Given the description of an element on the screen output the (x, y) to click on. 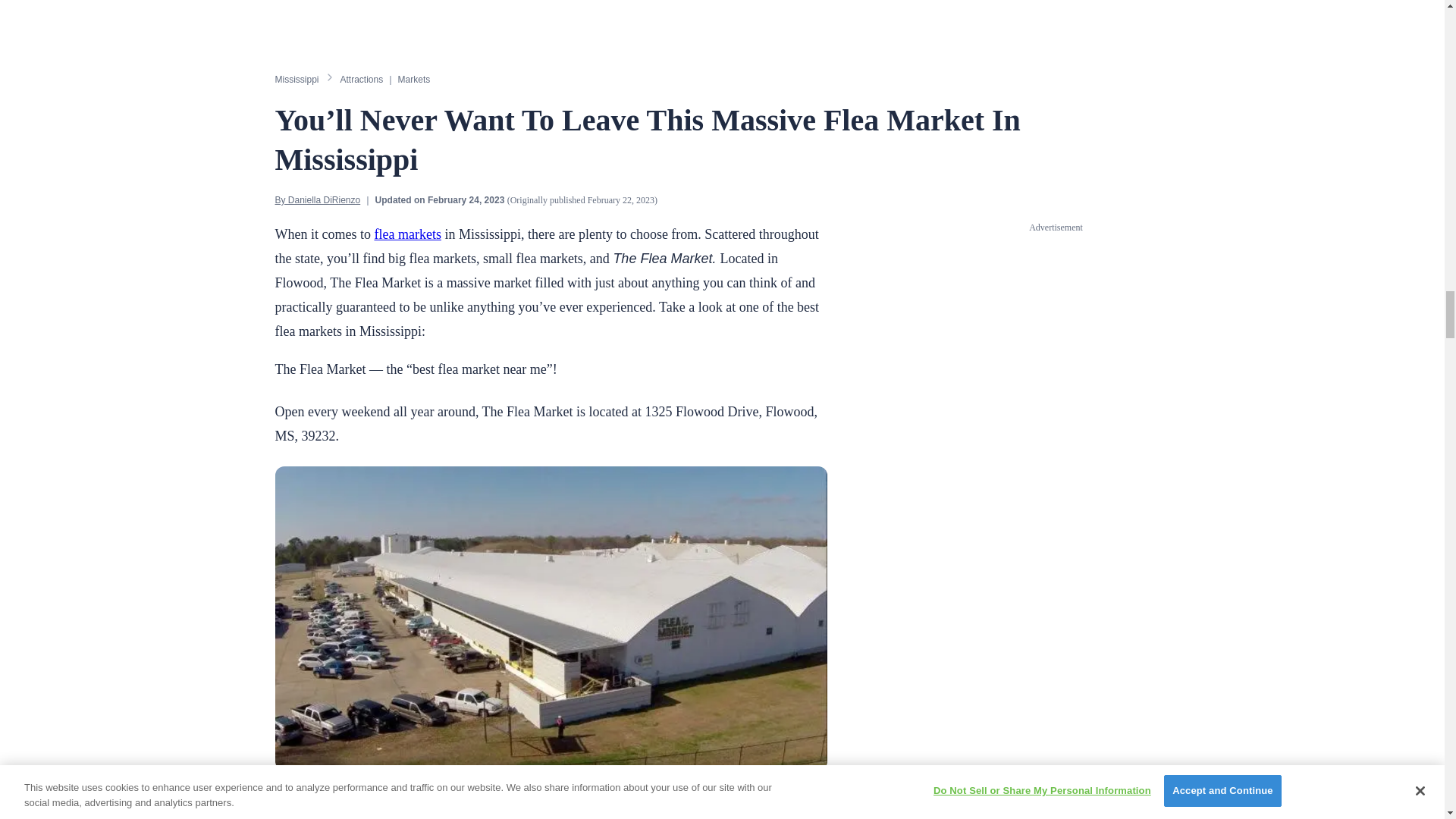
Markets (413, 79)
Attractions (362, 79)
